Given the description of an element on the screen output the (x, y) to click on. 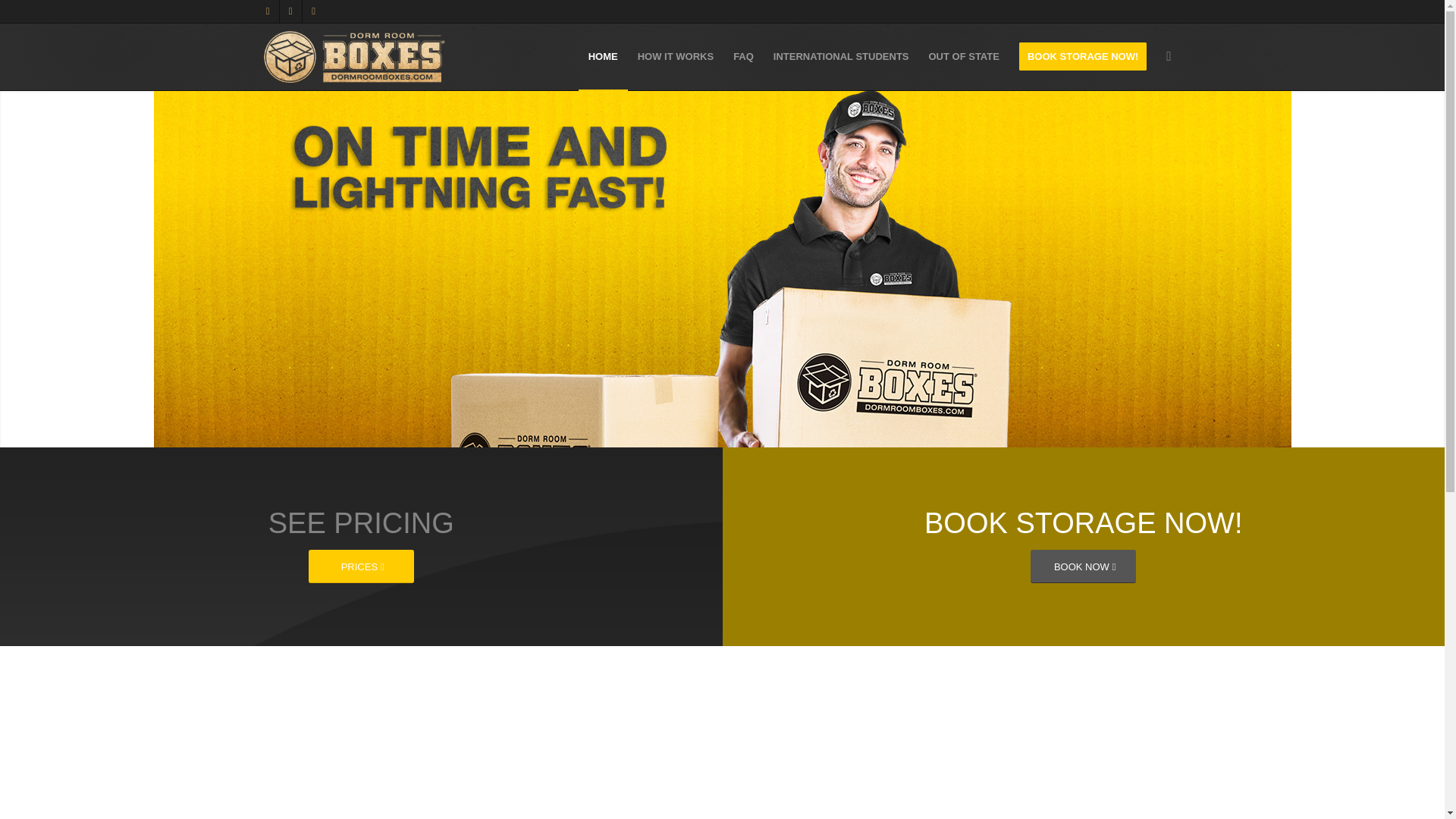
HOW IT WORKS (675, 56)
BOOK STORAGE NOW! (1082, 56)
OUT OF STATE (963, 56)
tampa-storage (354, 56)
Facebook (267, 11)
Instagram (290, 11)
PRICES (360, 566)
BOOK NOW (1082, 566)
INTERNATIONAL STUDENTS (840, 56)
Twitter (312, 11)
